Given the description of an element on the screen output the (x, y) to click on. 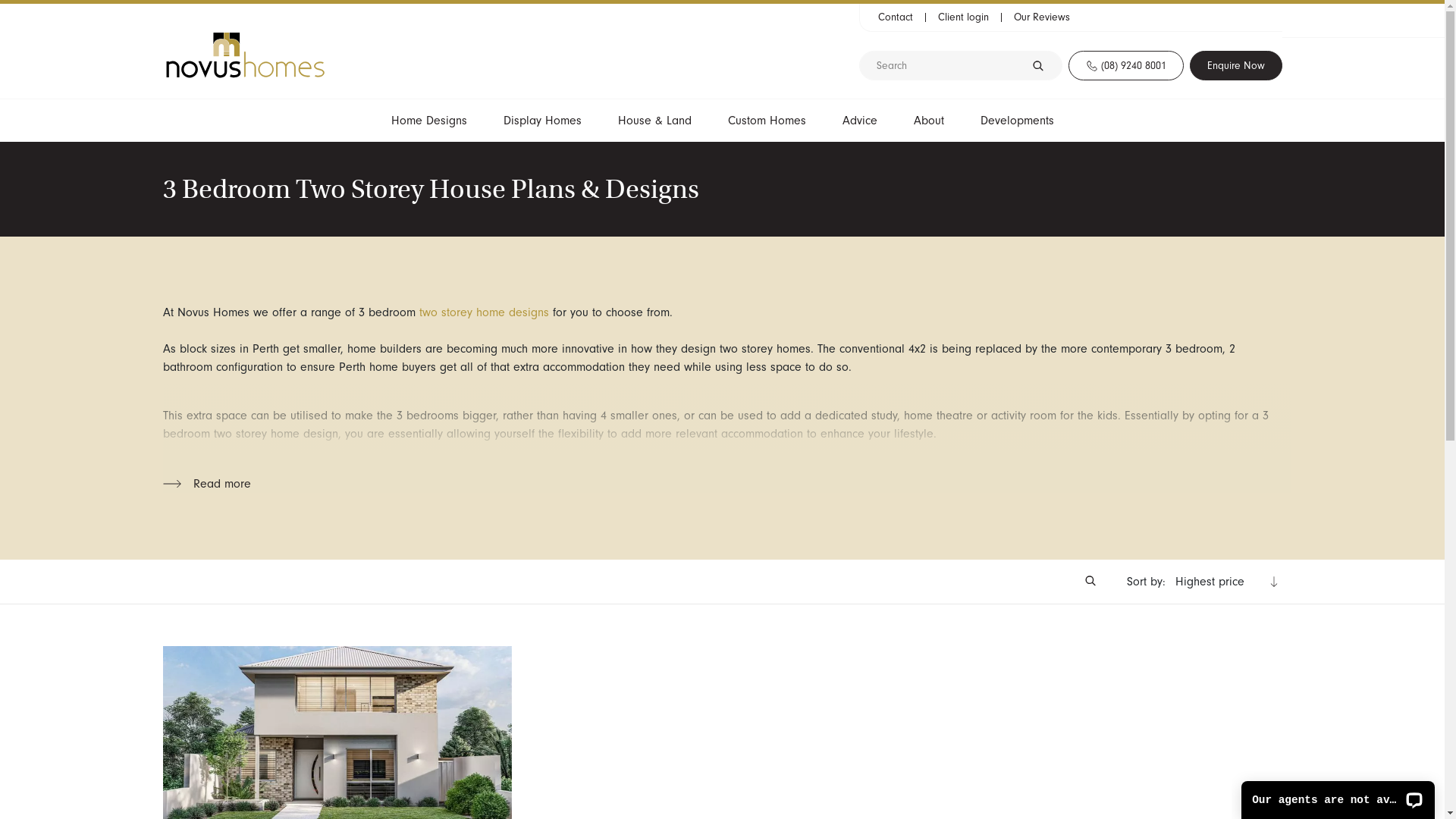
Advice Element type: text (858, 120)
Read more Element type: text (206, 483)
(08) 9240 8001 Element type: text (1125, 65)
Display Homes Element type: text (542, 120)
Enquire Now Element type: text (1235, 65)
two storey home designs Element type: text (483, 312)
Home Element type: hover (244, 55)
House & Land Element type: text (654, 120)
About Element type: text (927, 120)
Contact Element type: text (895, 16)
Custom Homes Element type: text (766, 120)
Home Designs Element type: text (429, 120)
Apply Element type: text (1043, 65)
Developments Element type: text (1016, 120)
Client login Element type: text (962, 16)
Our Reviews Element type: text (1038, 16)
